Given the description of an element on the screen output the (x, y) to click on. 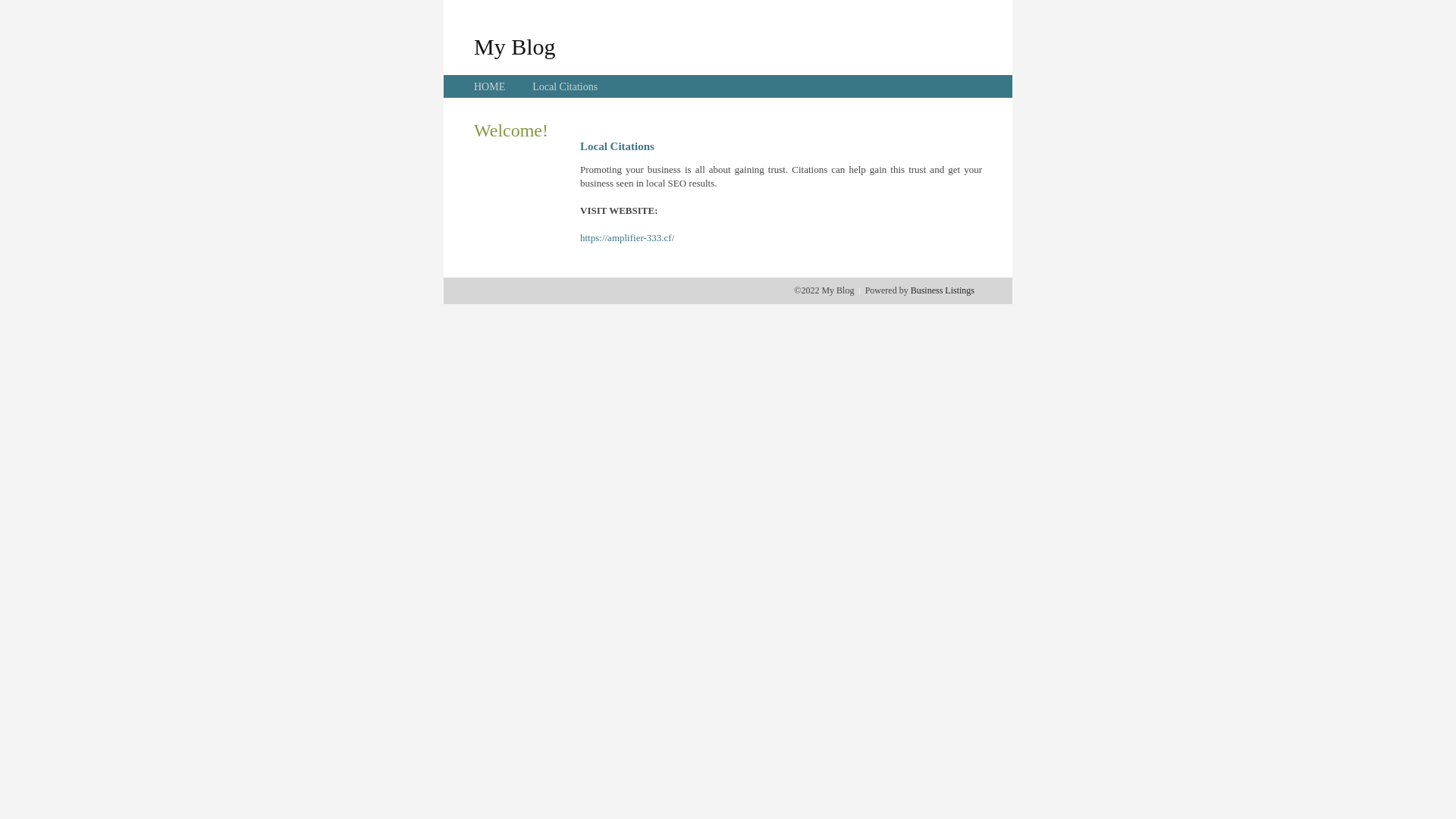
Business Listings Element type: text (942, 290)
My Blog Element type: text (514, 46)
https://amplifier-333.cf/ Element type: text (627, 237)
Local Citations Element type: text (564, 86)
HOME Element type: text (489, 86)
